Given the description of an element on the screen output the (x, y) to click on. 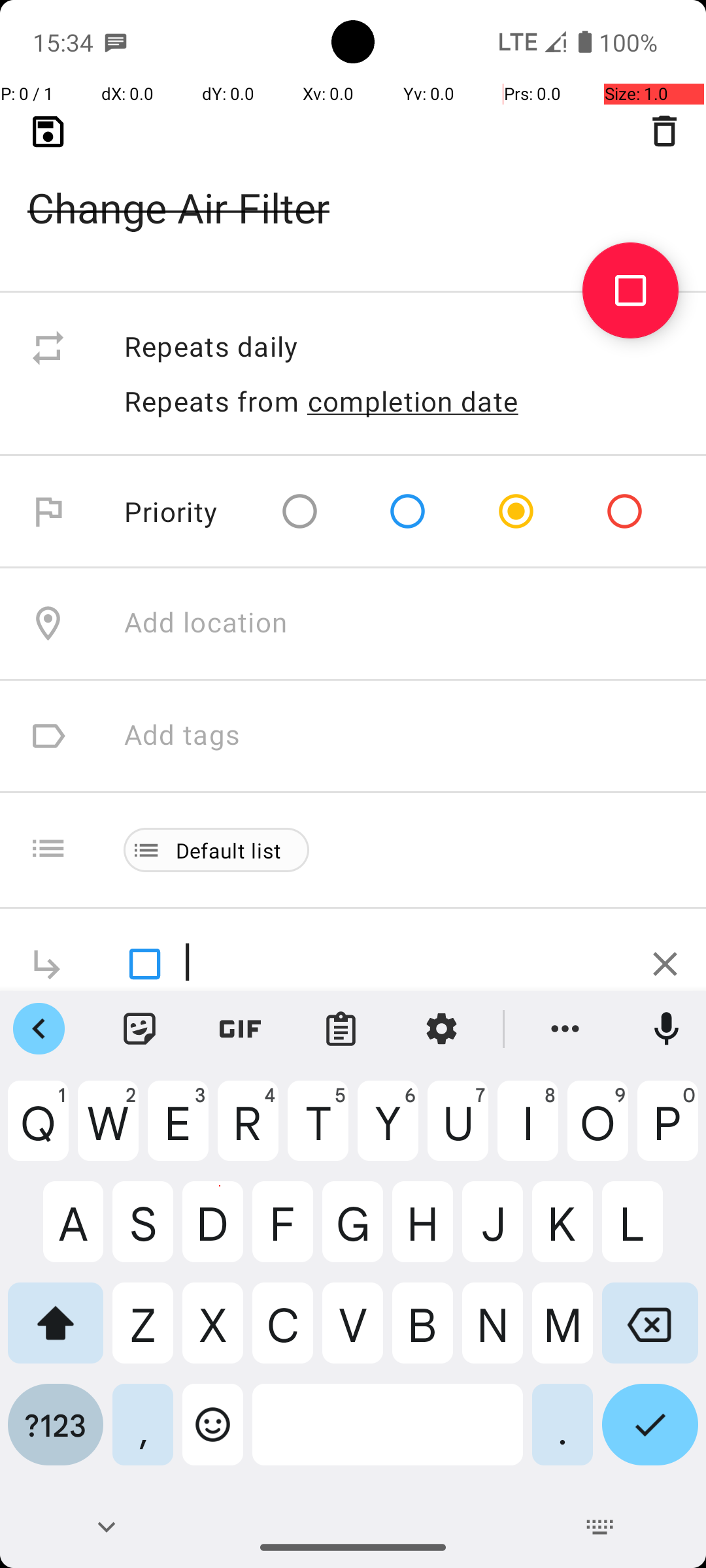
Wednesday, October 4 Element type: android.widget.TextView (267, 122)
Repeats daily Element type: android.widget.TextView (400, 347)
Repeats from Element type: android.widget.TextView (211, 400)
completion date Element type: android.widget.TextView (413, 400)
